Given the description of an element on the screen output the (x, y) to click on. 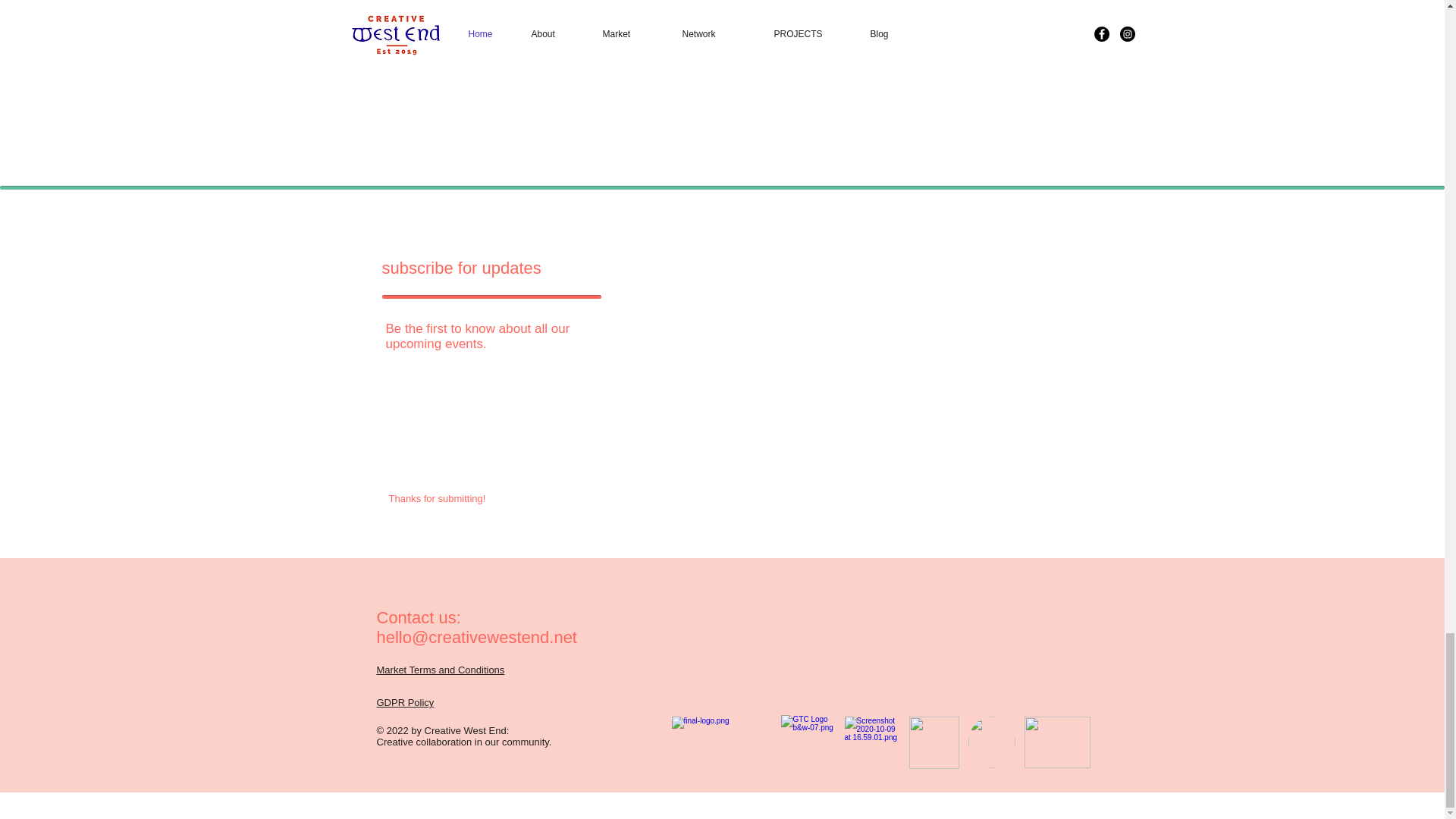
west end million.jpg (871, 742)
restore logo.jpg (1056, 742)
GDPR Policy (404, 702)
Market Terms and Conditions (439, 669)
more music logo.png (933, 742)
film morecambe.jpg (991, 742)
